Given the description of an element on the screen output the (x, y) to click on. 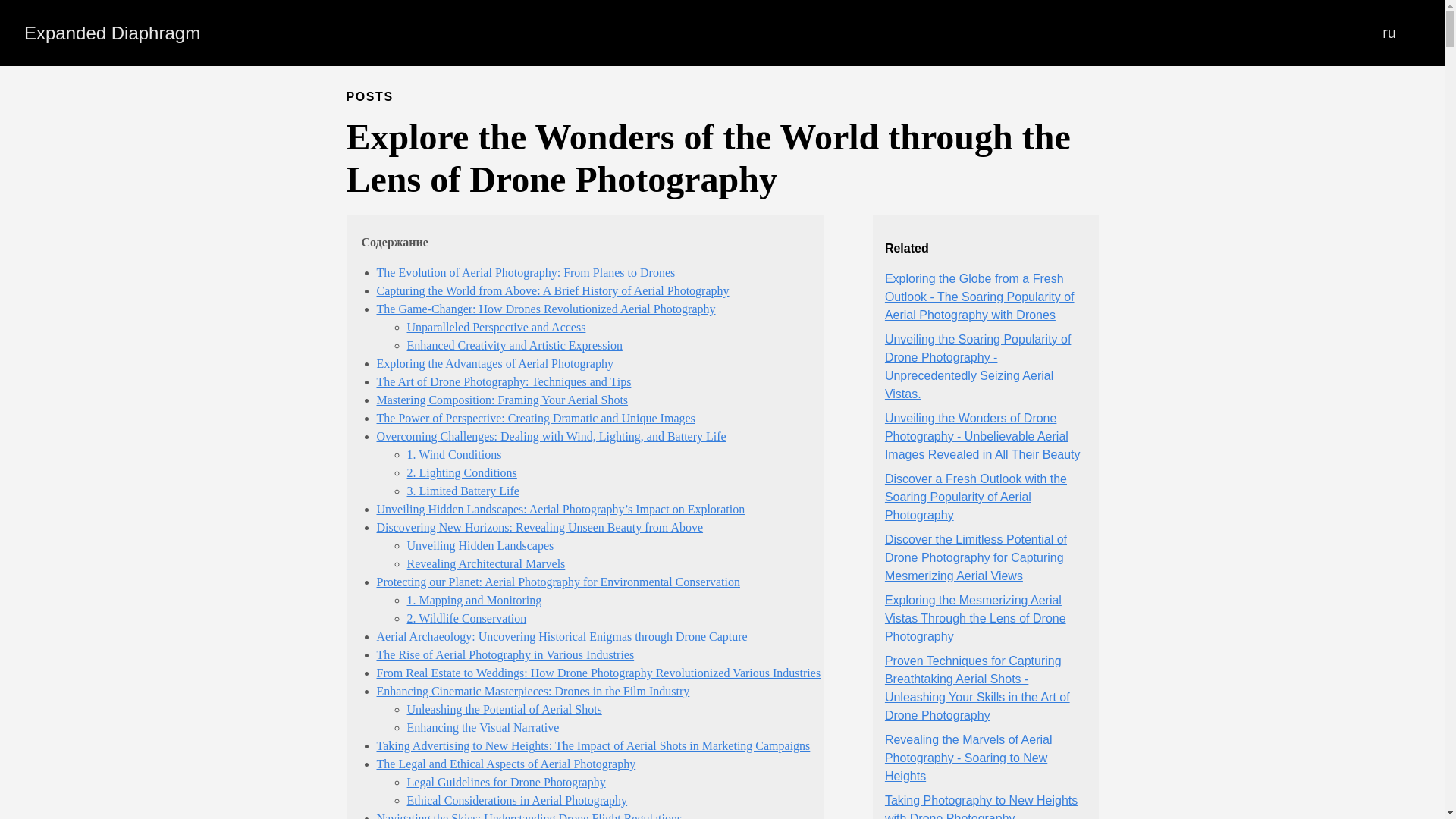
1. Mapping and Monitoring (473, 599)
2. Lighting Conditions (461, 472)
Enhanced Creativity and Artistic Expression (513, 345)
Mastering Composition: Framing Your Aerial Shots (501, 399)
1. Wind Conditions (453, 454)
Discovering New Horizons: Revealing Unseen Beauty from Above (539, 526)
2. Wildlife Conservation (465, 617)
